Given the description of an element on the screen output the (x, y) to click on. 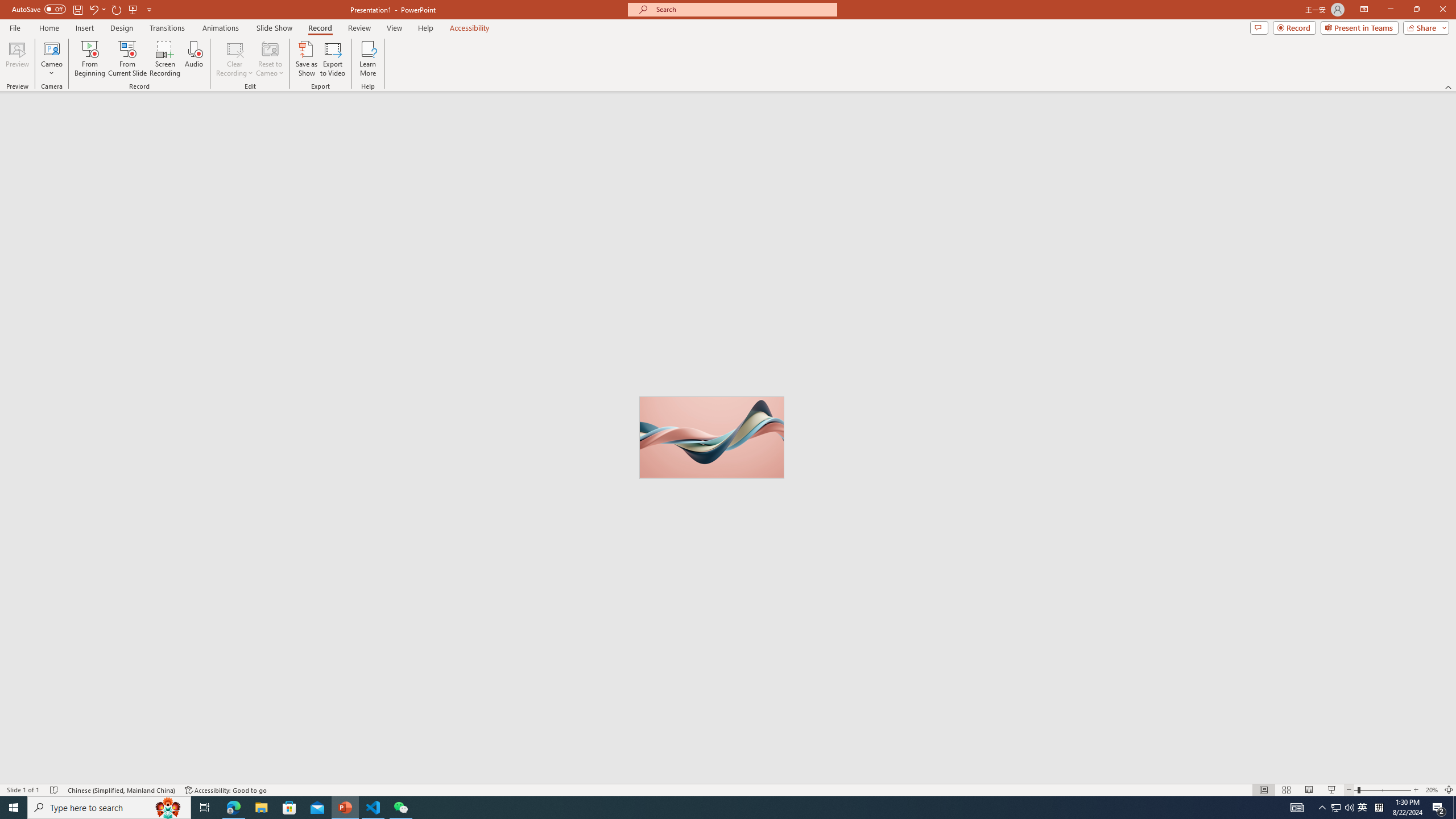
Accessibility Checker Accessibility: Good to go (226, 790)
Clear Recording (234, 58)
From Current Slide... (127, 58)
